Given the description of an element on the screen output the (x, y) to click on. 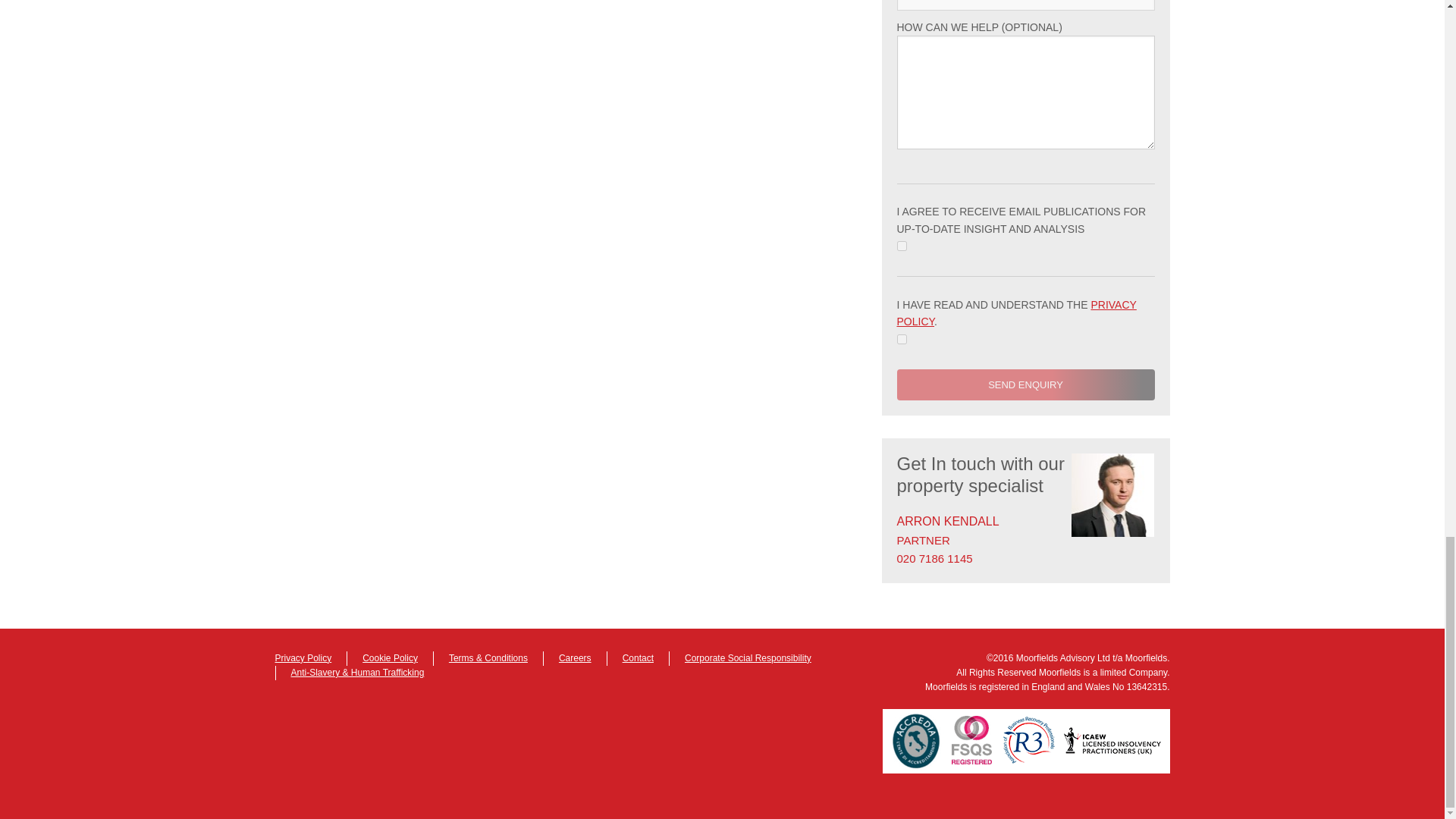
Understand the privacy policy (900, 338)
privacy policy (1015, 312)
on (900, 338)
true (900, 245)
Send Enquiry (1025, 385)
